Given the description of an element on the screen output the (x, y) to click on. 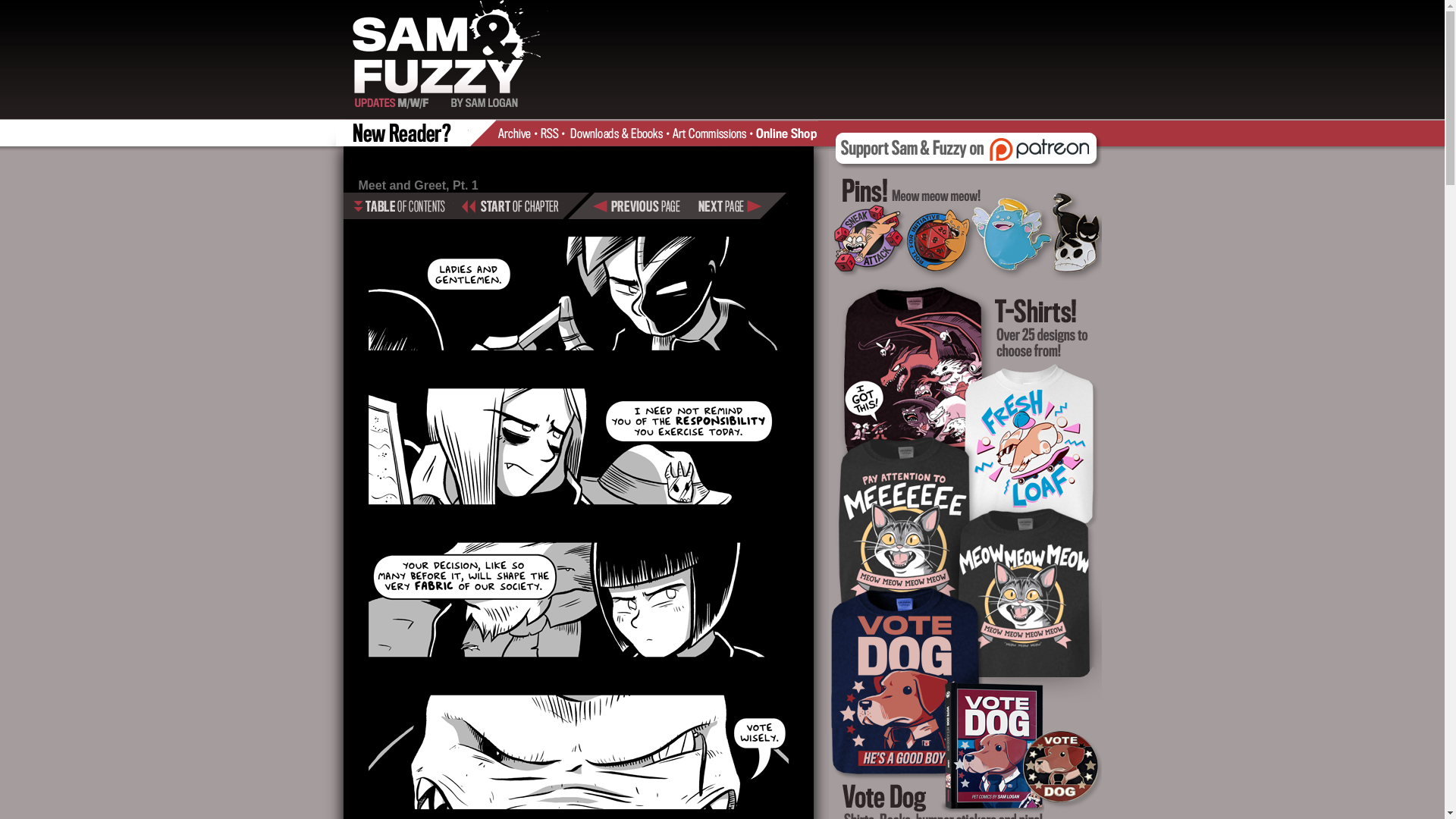
Art Commisions (711, 132)
New reader? (404, 132)
RSS (554, 132)
Start of chapter (507, 205)
Online Shop (786, 132)
Archive (518, 132)
Table of contents (397, 205)
Previous page (641, 205)
Next page (738, 205)
